Given the description of an element on the screen output the (x, y) to click on. 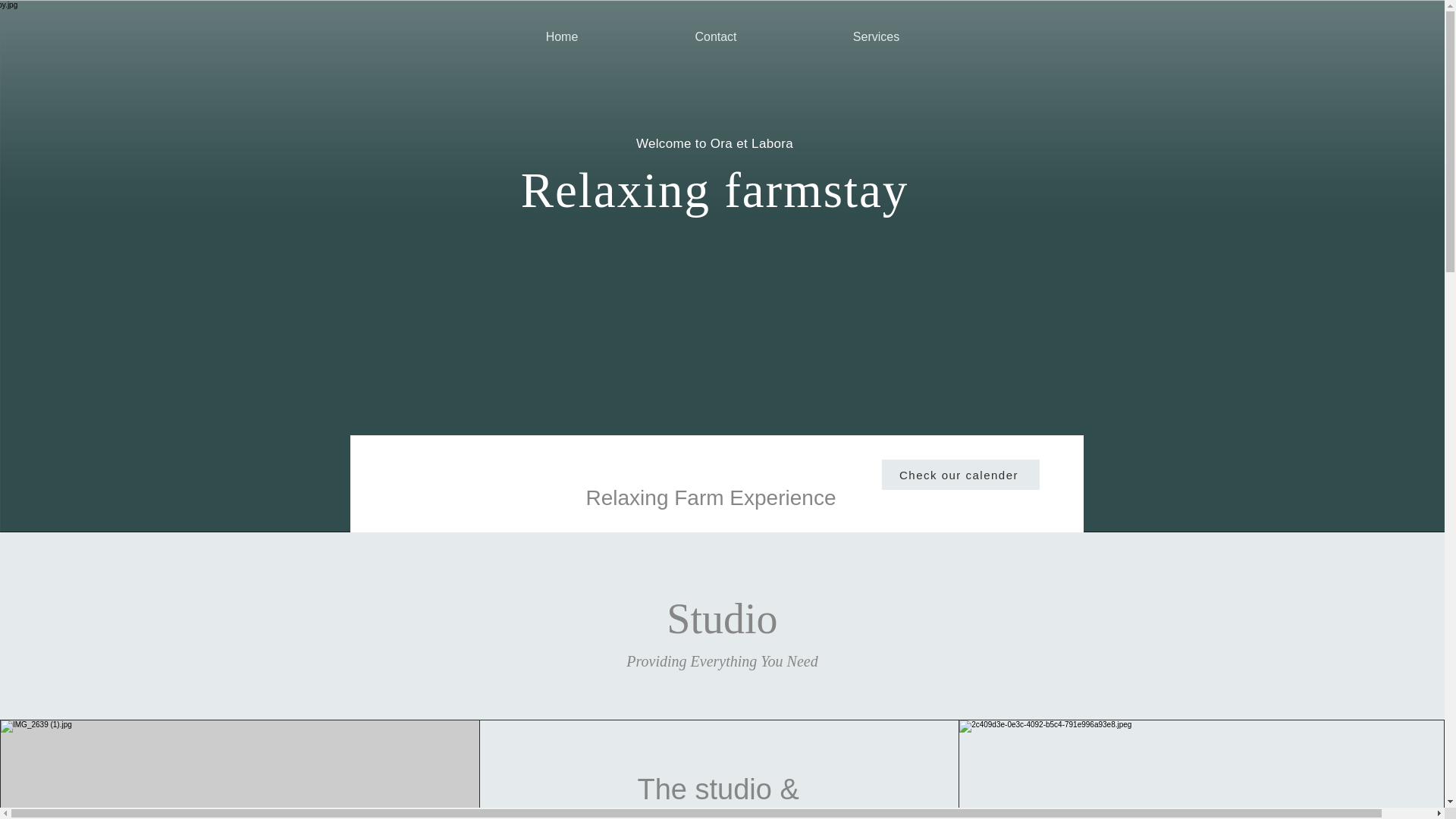
Services (875, 36)
Contact (715, 36)
Check our calender (959, 474)
Home (561, 36)
